Given the description of an element on the screen output the (x, y) to click on. 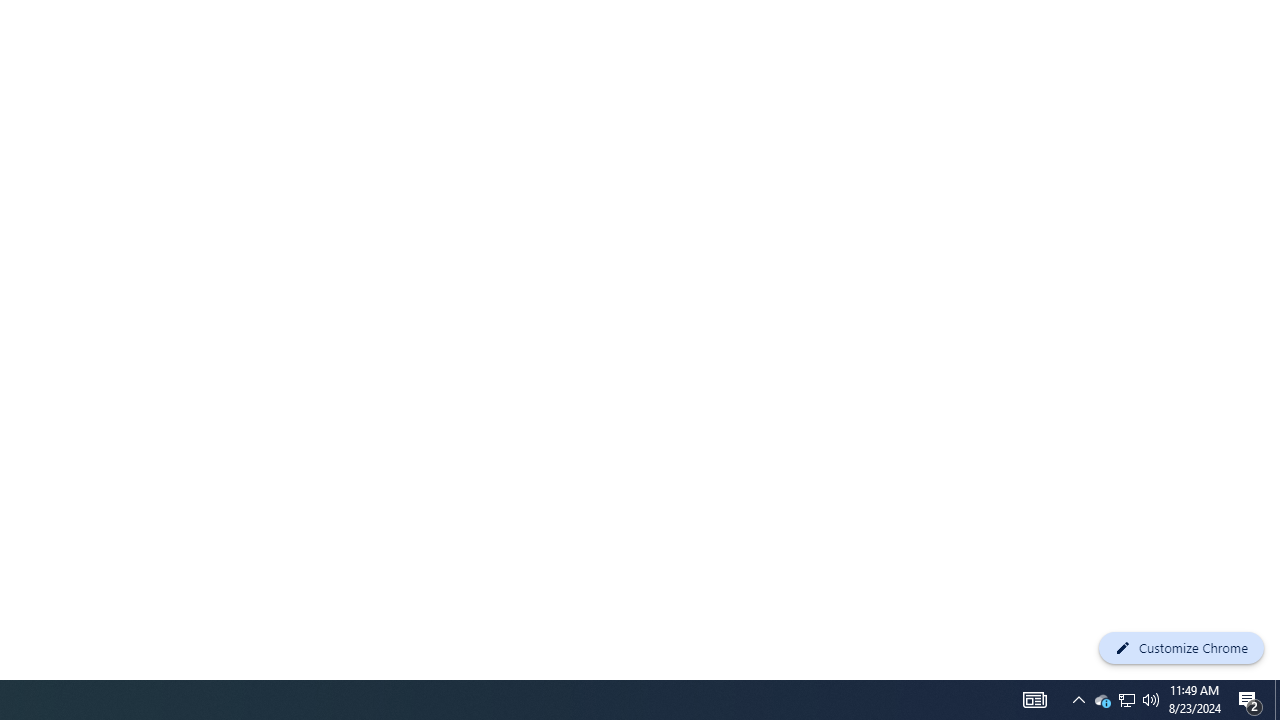
Customize Chrome (1181, 647)
